Given the description of an element on the screen output the (x, y) to click on. 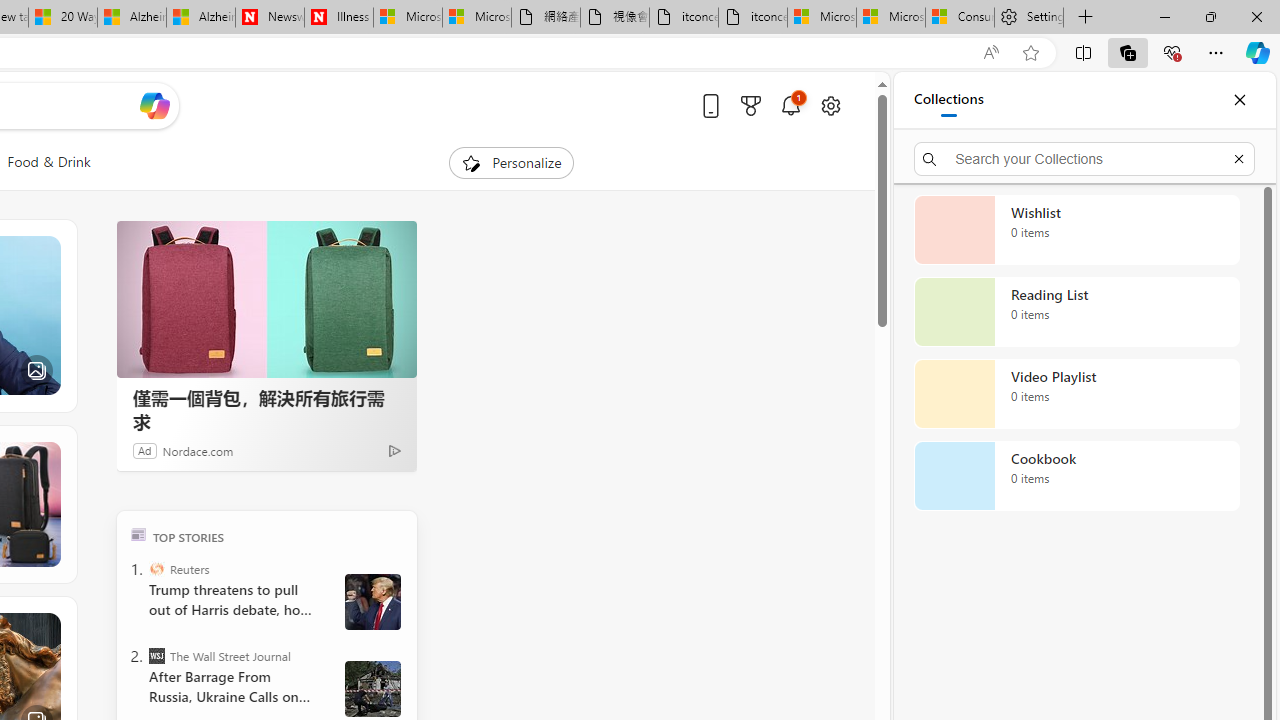
Exit search (1238, 158)
Cookbook collection, 0 items (1076, 475)
